Given the description of an element on the screen output the (x, y) to click on. 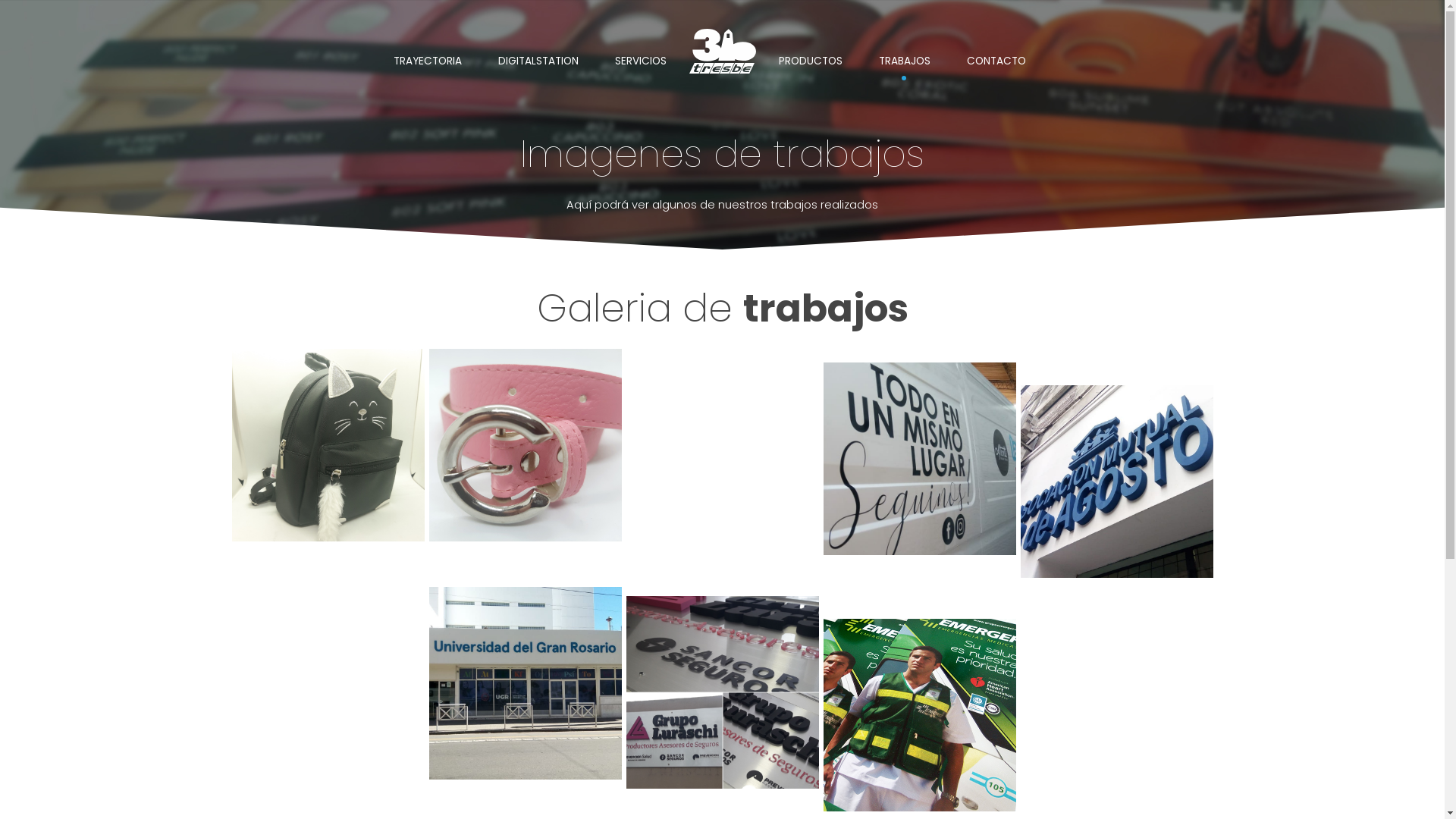
CONTACTO Element type: text (995, 60)
DIGITALSTATION Element type: text (537, 60)
SERVICIOS Element type: text (640, 60)
TRABAJOS Element type: text (903, 60)
TRAYECTORIA Element type: text (426, 60)
PRODUCTOS Element type: text (809, 60)
